Given the description of an element on the screen output the (x, y) to click on. 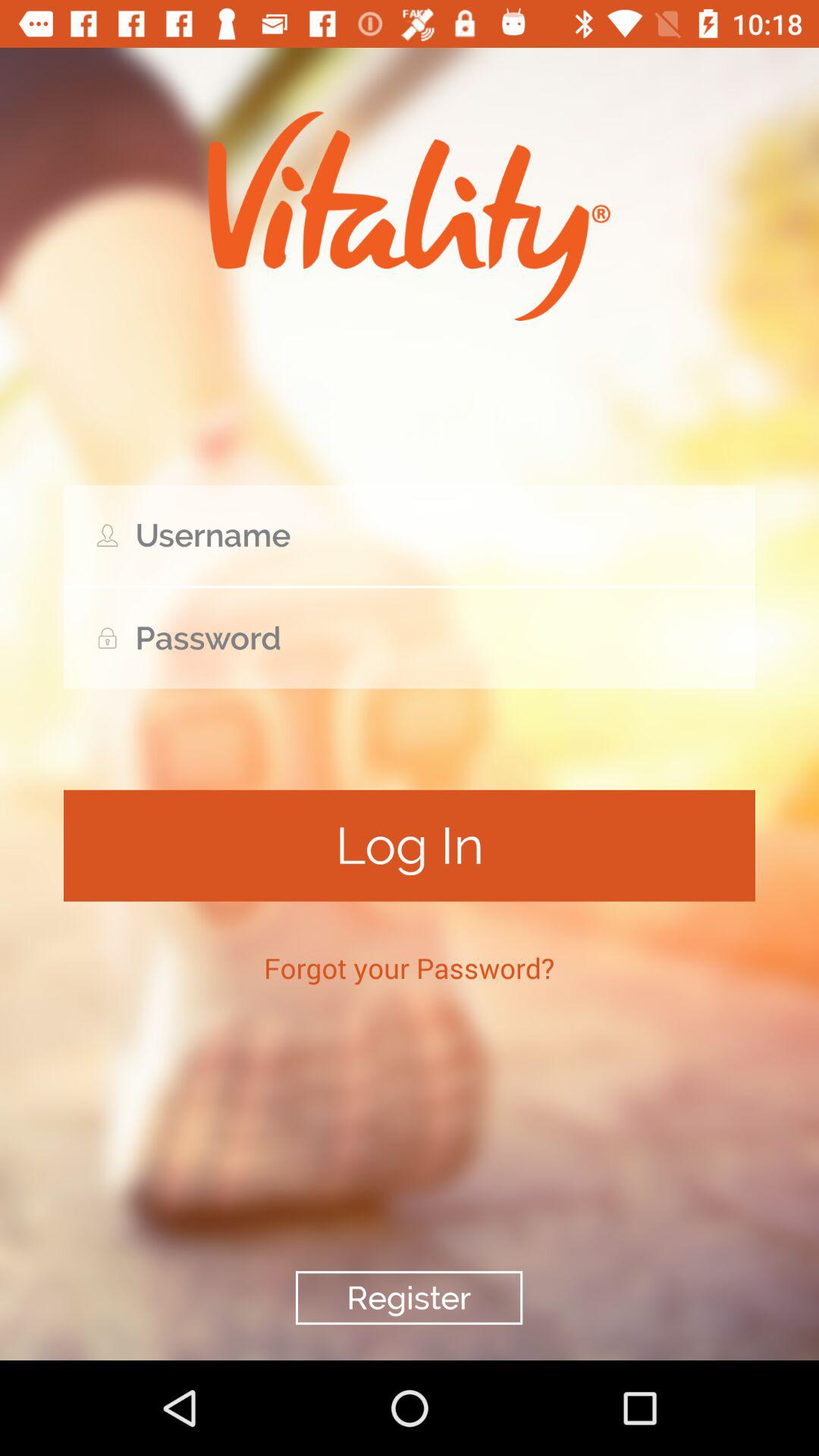
scroll until the forgot your password? (408, 967)
